Given the description of an element on the screen output the (x, y) to click on. 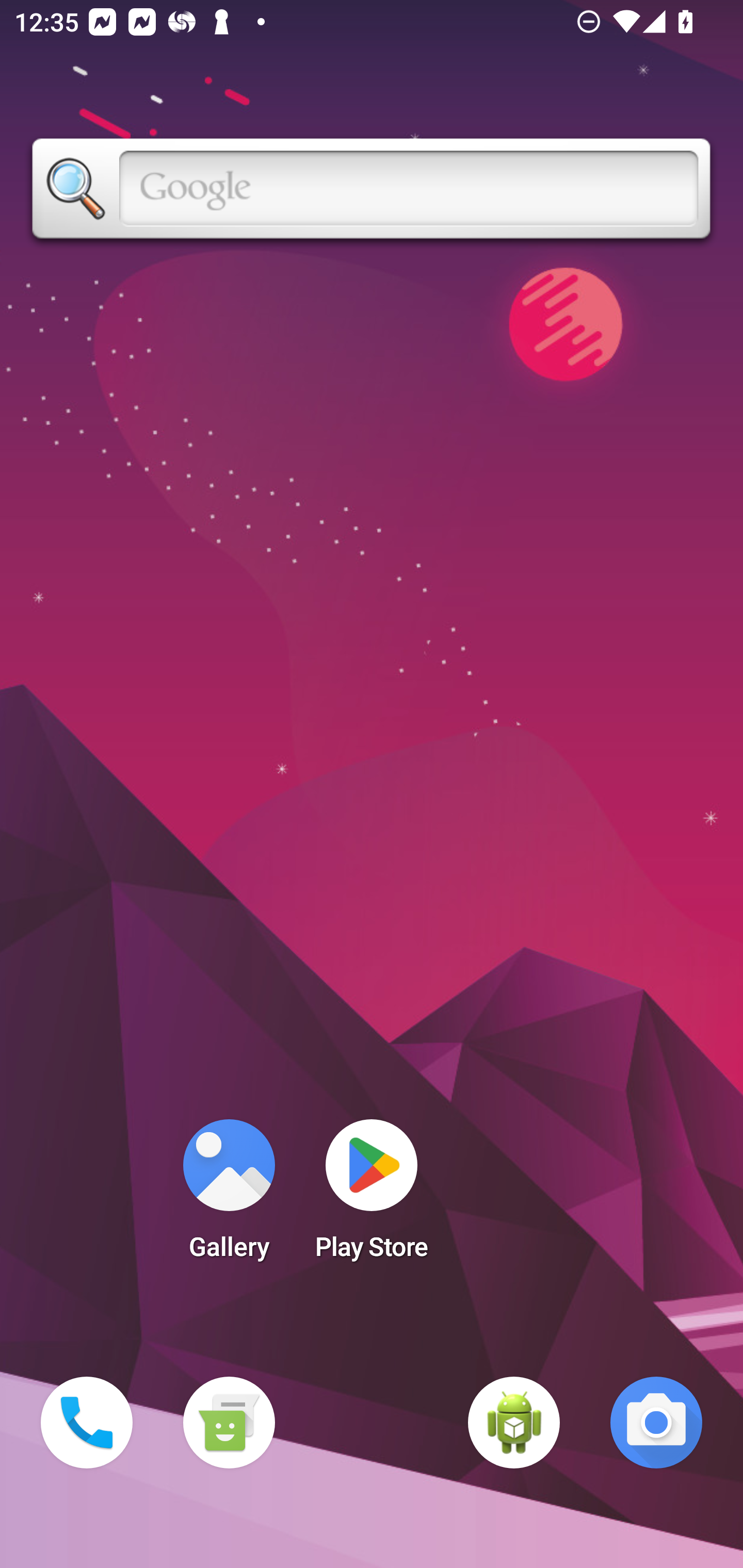
Gallery (228, 1195)
Play Store (371, 1195)
Phone (86, 1422)
Messaging (228, 1422)
WebView Browser Tester (513, 1422)
Camera (656, 1422)
